Given the description of an element on the screen output the (x, y) to click on. 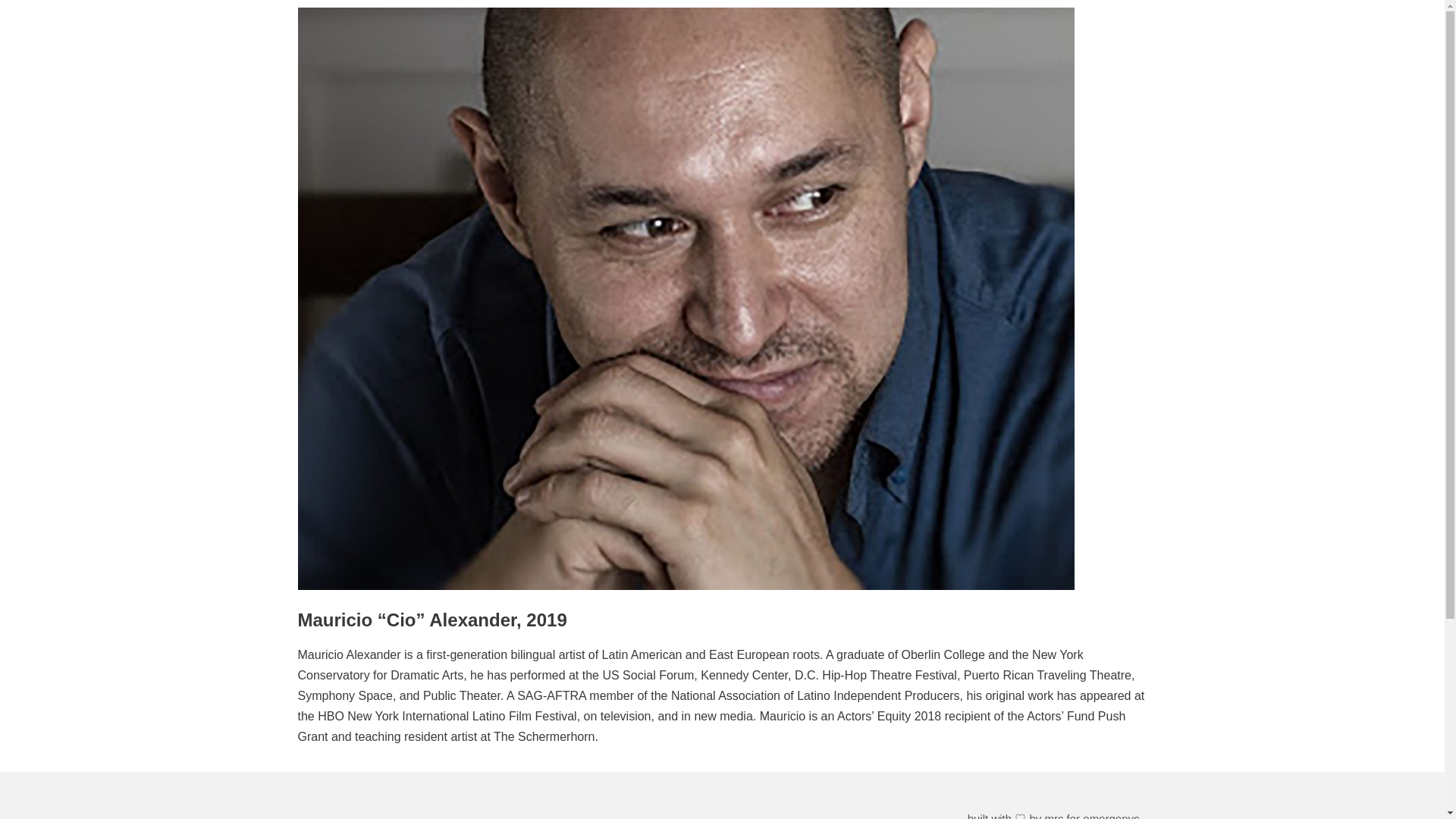
Skip to content (15, 7)
About (373, 814)
Home (319, 814)
Programs (436, 814)
Faculty (572, 814)
Alumni (507, 814)
